Given the description of an element on the screen output the (x, y) to click on. 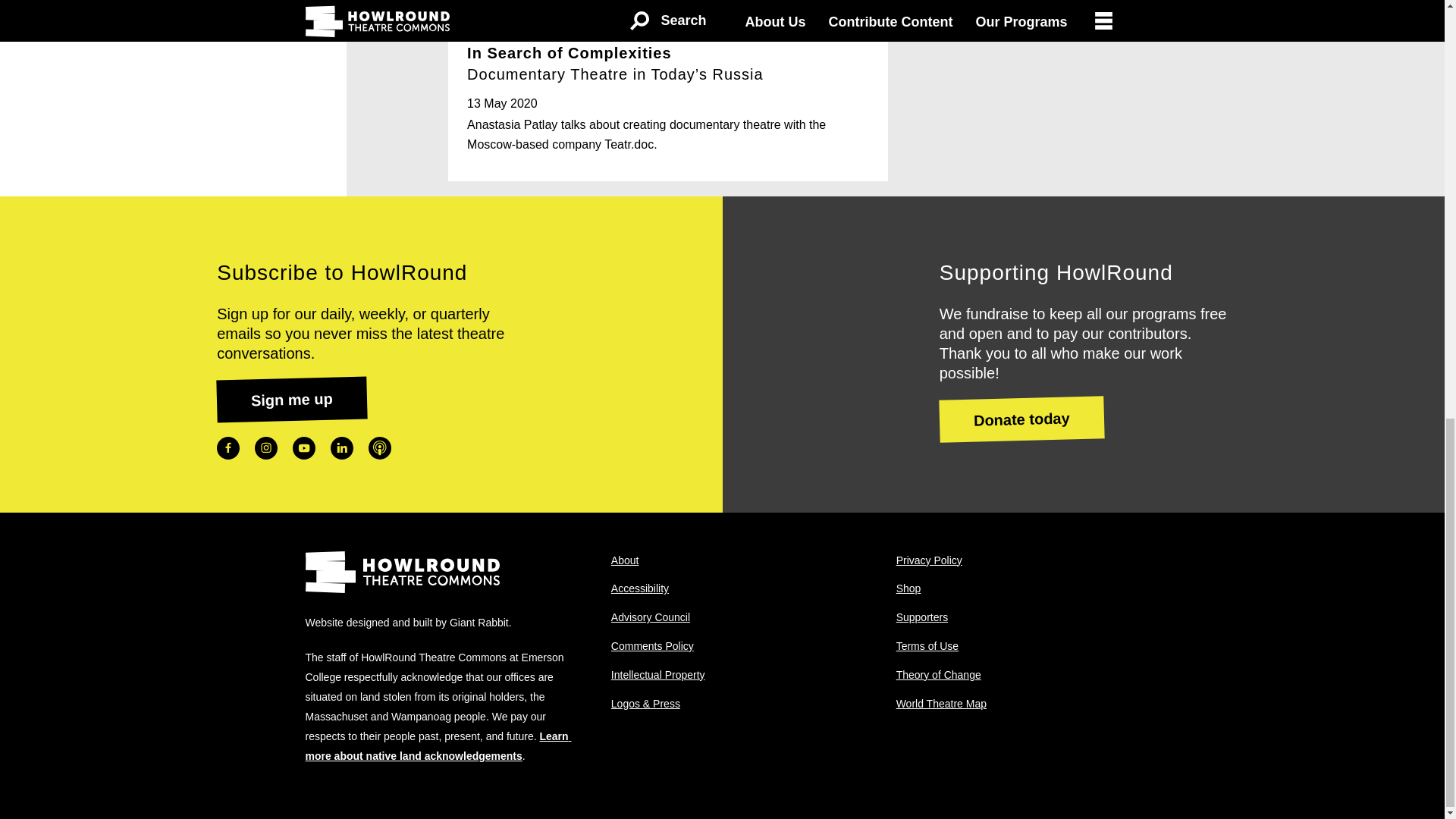
Sign me up (291, 396)
In Search of Complexities (668, 98)
instagram (266, 447)
facebook (228, 447)
